Given the description of an element on the screen output the (x, y) to click on. 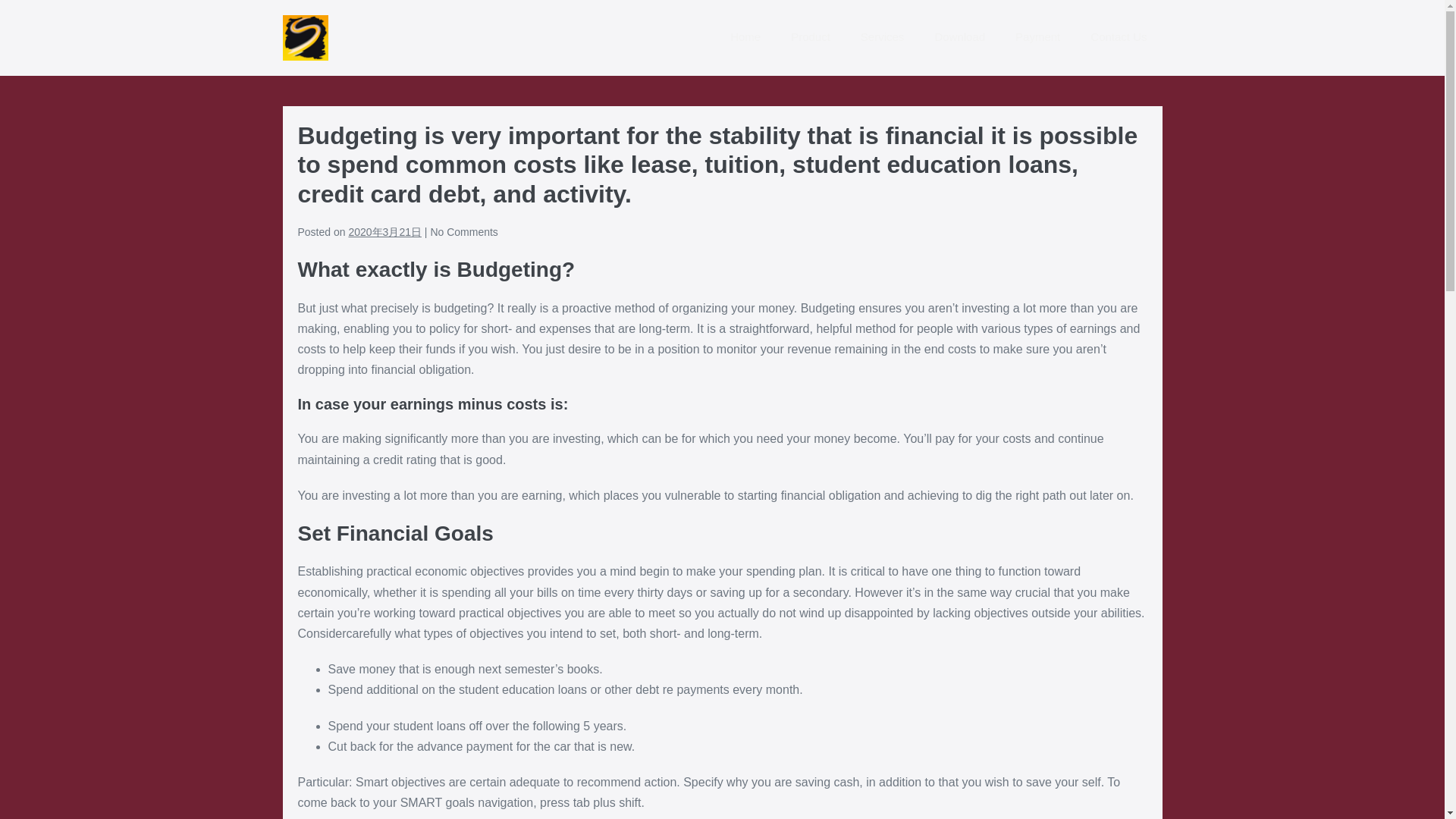
Home (745, 37)
Sports System Limited (304, 37)
Payment (1037, 37)
Contact Us (1118, 37)
Product (810, 37)
Download (959, 37)
Services (882, 37)
